Given the description of an element on the screen output the (x, y) to click on. 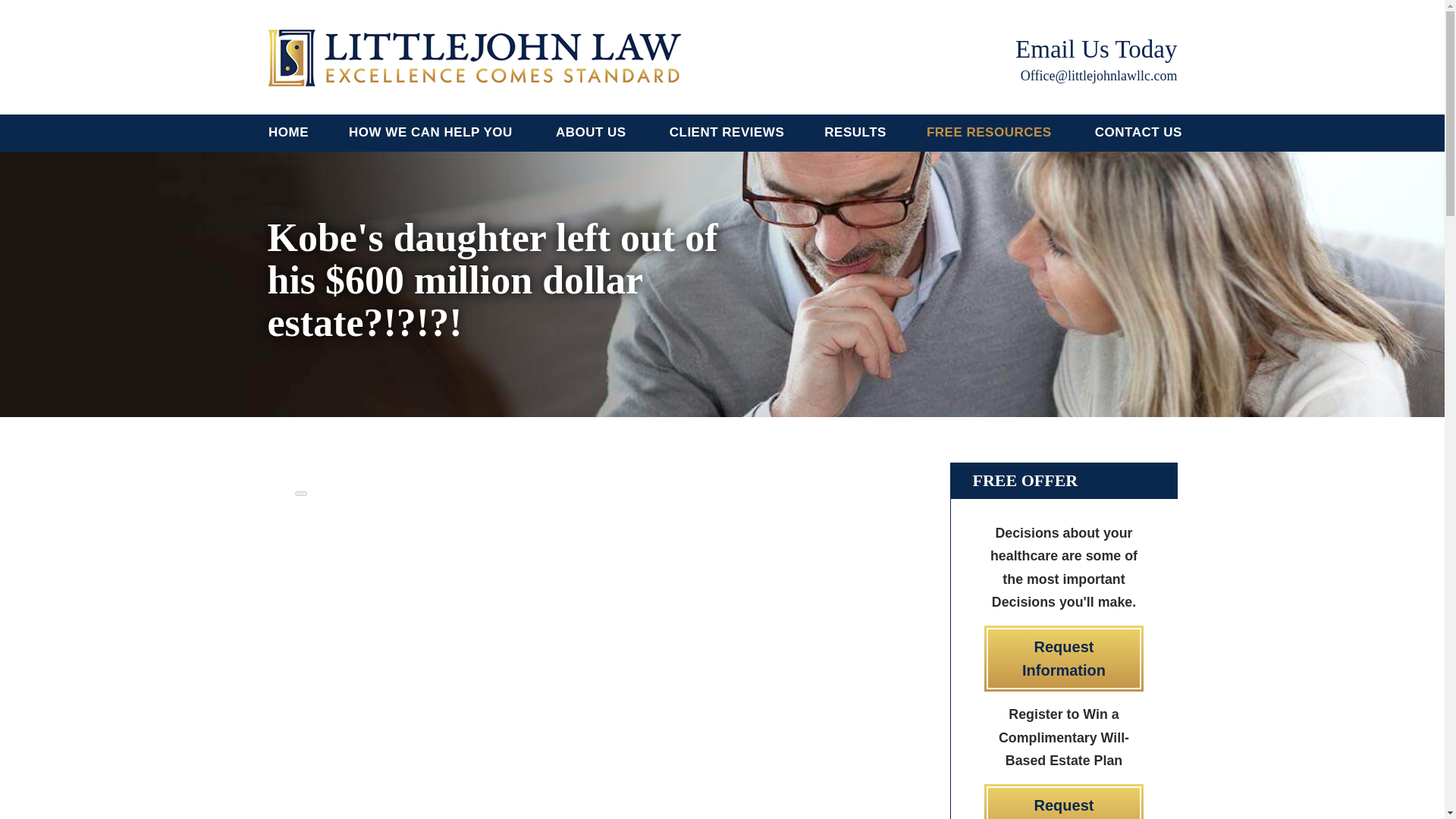
ABOUT US (592, 132)
HOW WE CAN HELP YOU (432, 132)
HOME (288, 132)
CONTACT US (1138, 132)
FREE RESOURCES (989, 132)
CLIENT REVIEWS (727, 132)
RESULTS (856, 132)
